Given the description of an element on the screen output the (x, y) to click on. 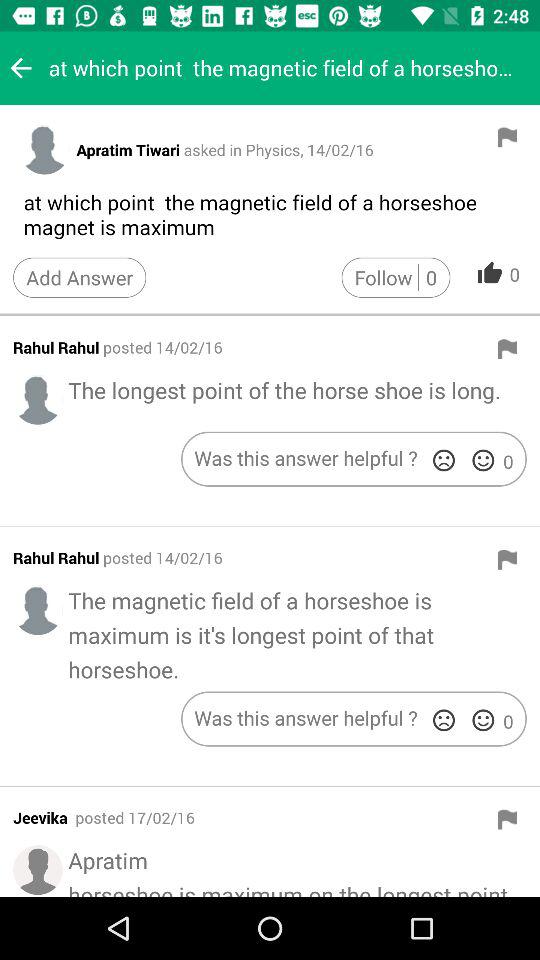
answer was helpful (483, 460)
